Given the description of an element on the screen output the (x, y) to click on. 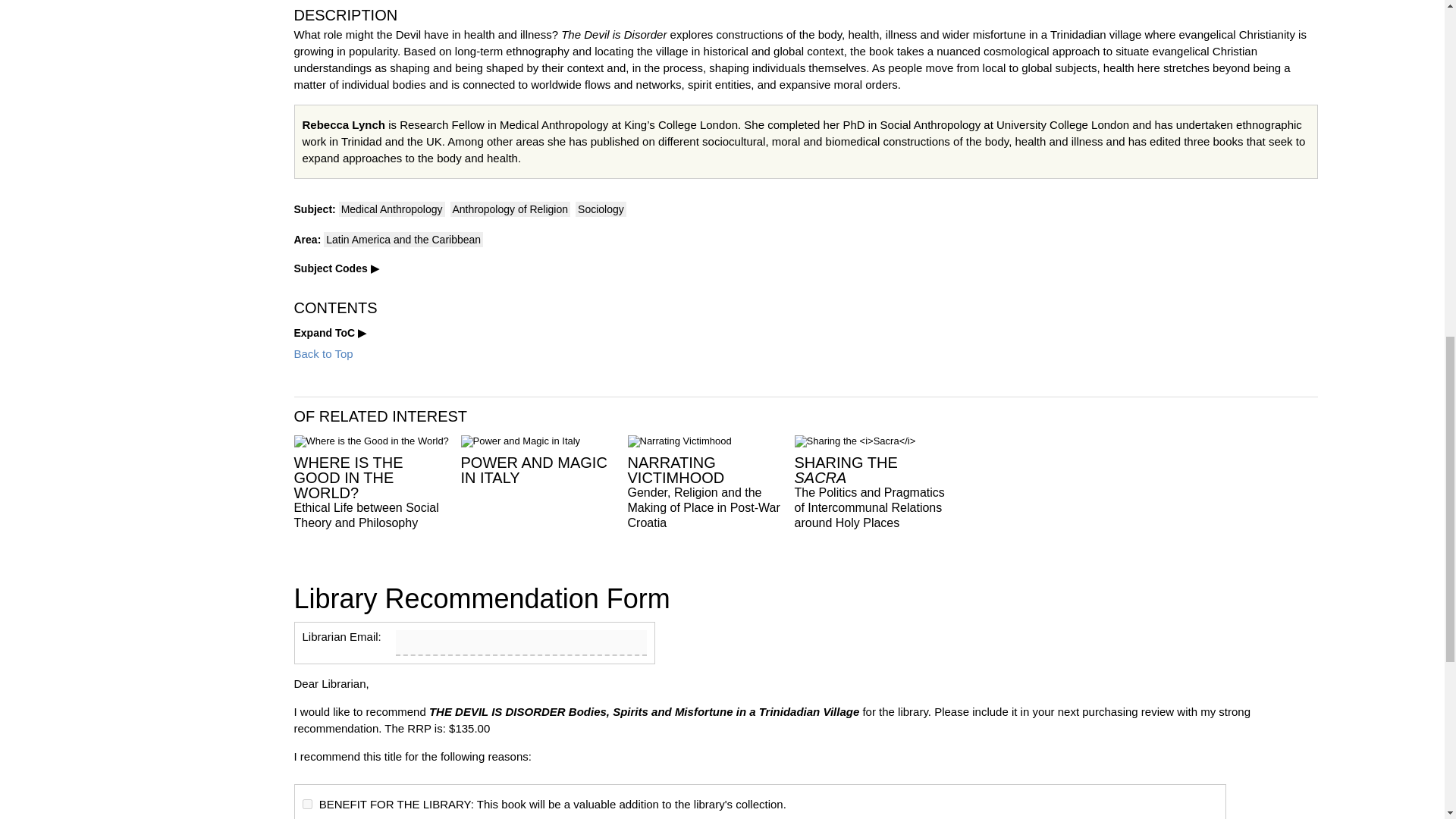
on (306, 804)
